Given the description of an element on the screen output the (x, y) to click on. 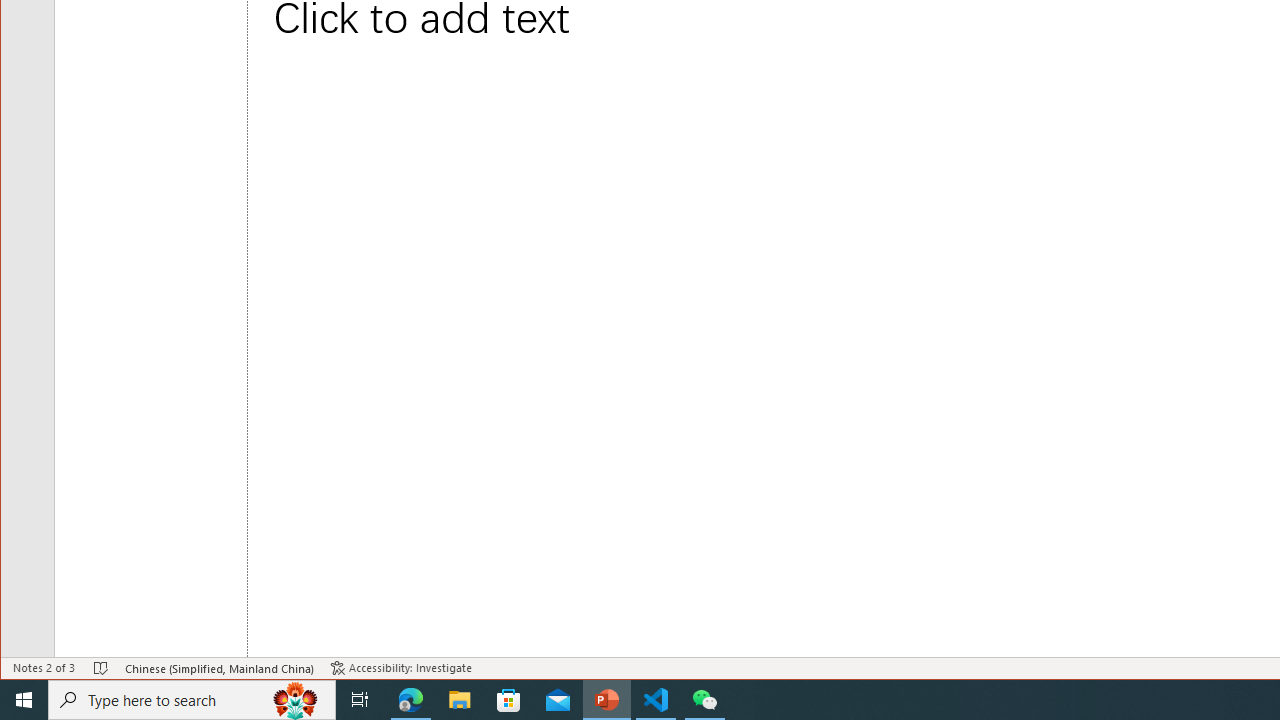
WeChat - 1 running window (704, 699)
